Given the description of an element on the screen output the (x, y) to click on. 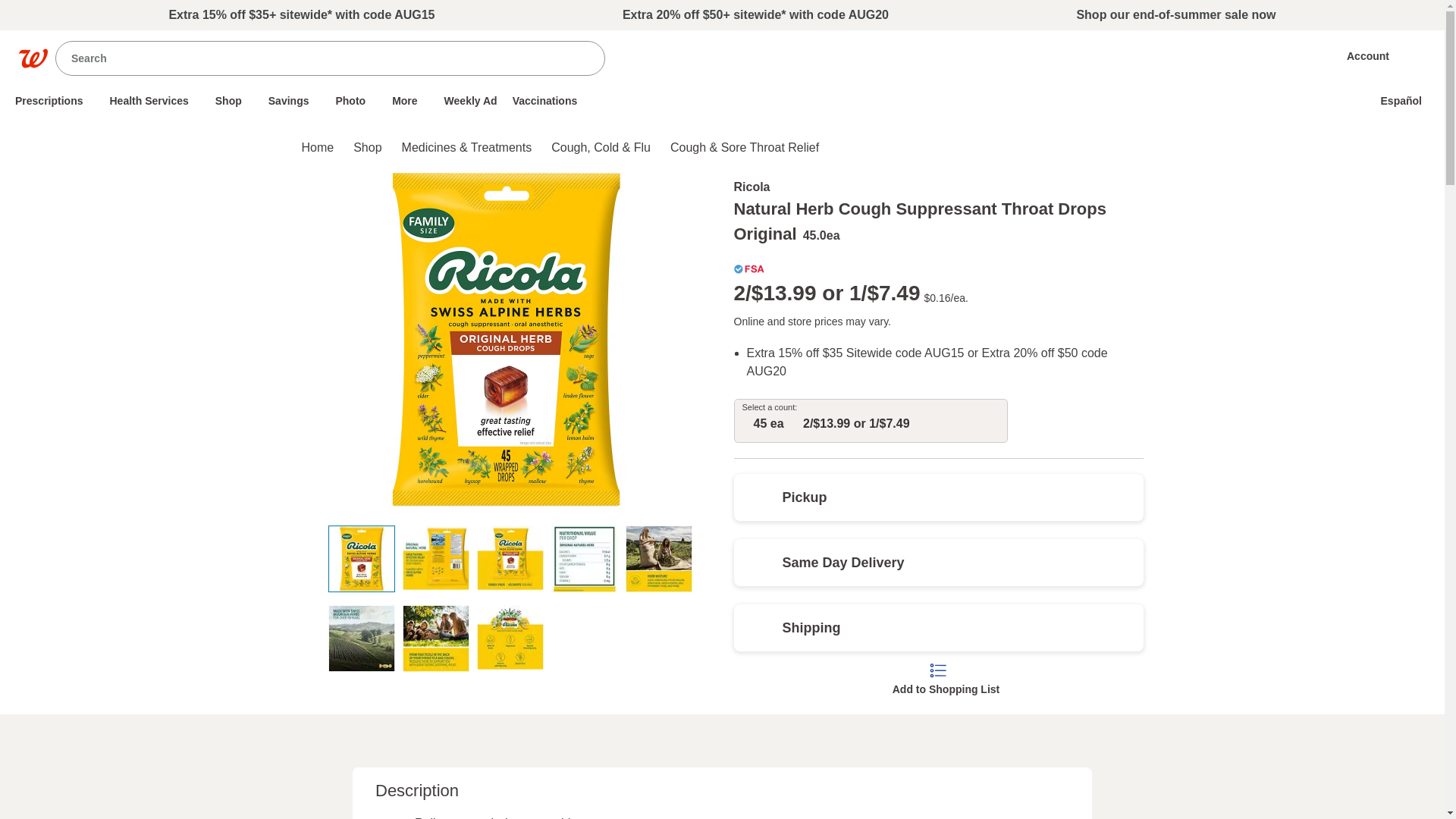
Shopping cart (1419, 56)
Search (1355, 56)
Search (579, 57)
Prescriptions (315, 57)
Shop our end-of-summer sale now (54, 100)
